Given the description of an element on the screen output the (x, y) to click on. 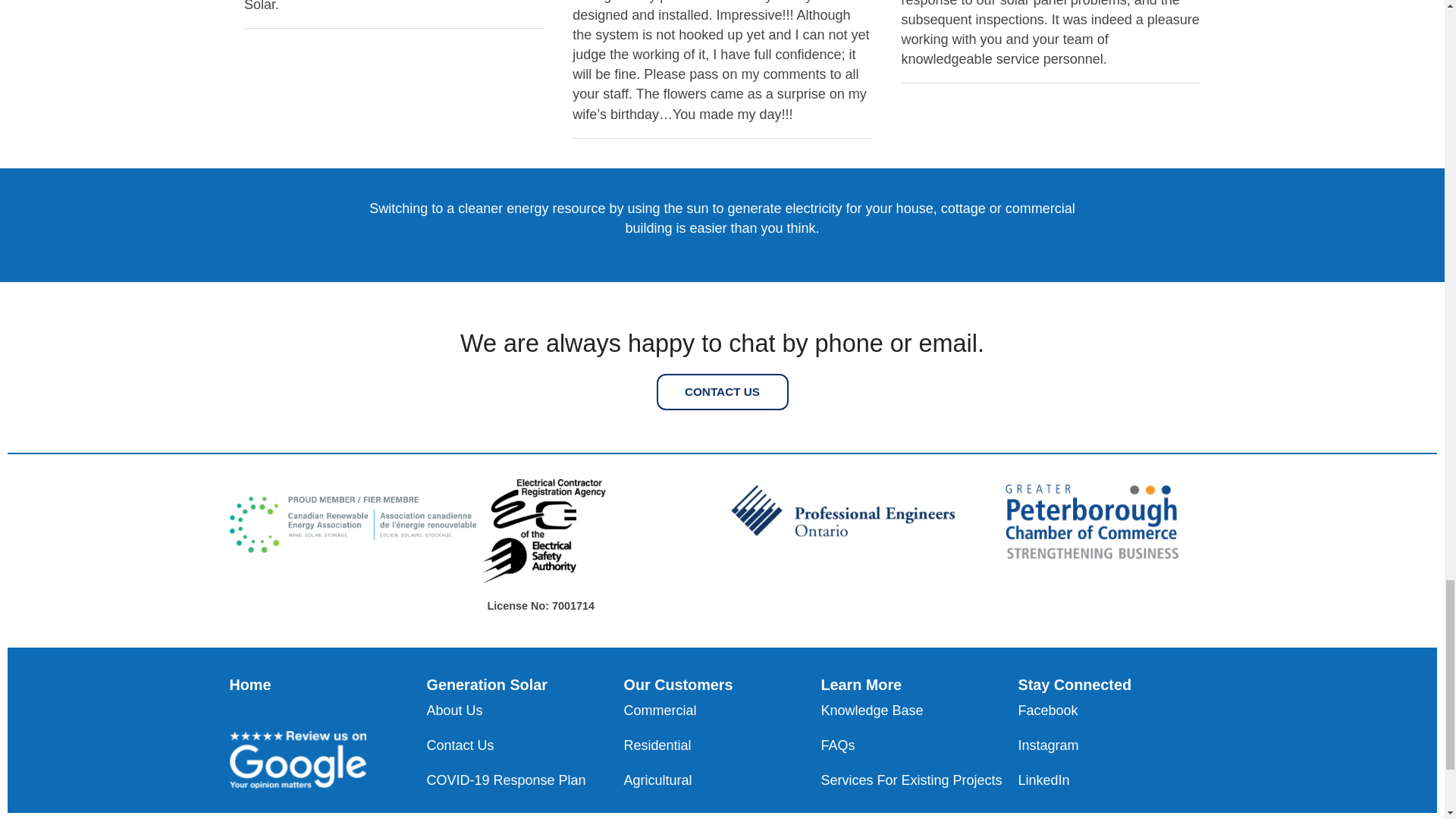
Home (249, 684)
Services For Existing Projects (919, 780)
LinkedIn (1115, 780)
Facebook (1115, 710)
COVID-19 Response Plan (524, 780)
Instagram (1115, 745)
Contact Us (524, 745)
Residential (722, 745)
About Us (524, 710)
Agricultural (722, 780)
FAQs (919, 745)
Knowledge Base (919, 710)
Commercial (722, 710)
CONTACT US (722, 391)
